Given the description of an element on the screen output the (x, y) to click on. 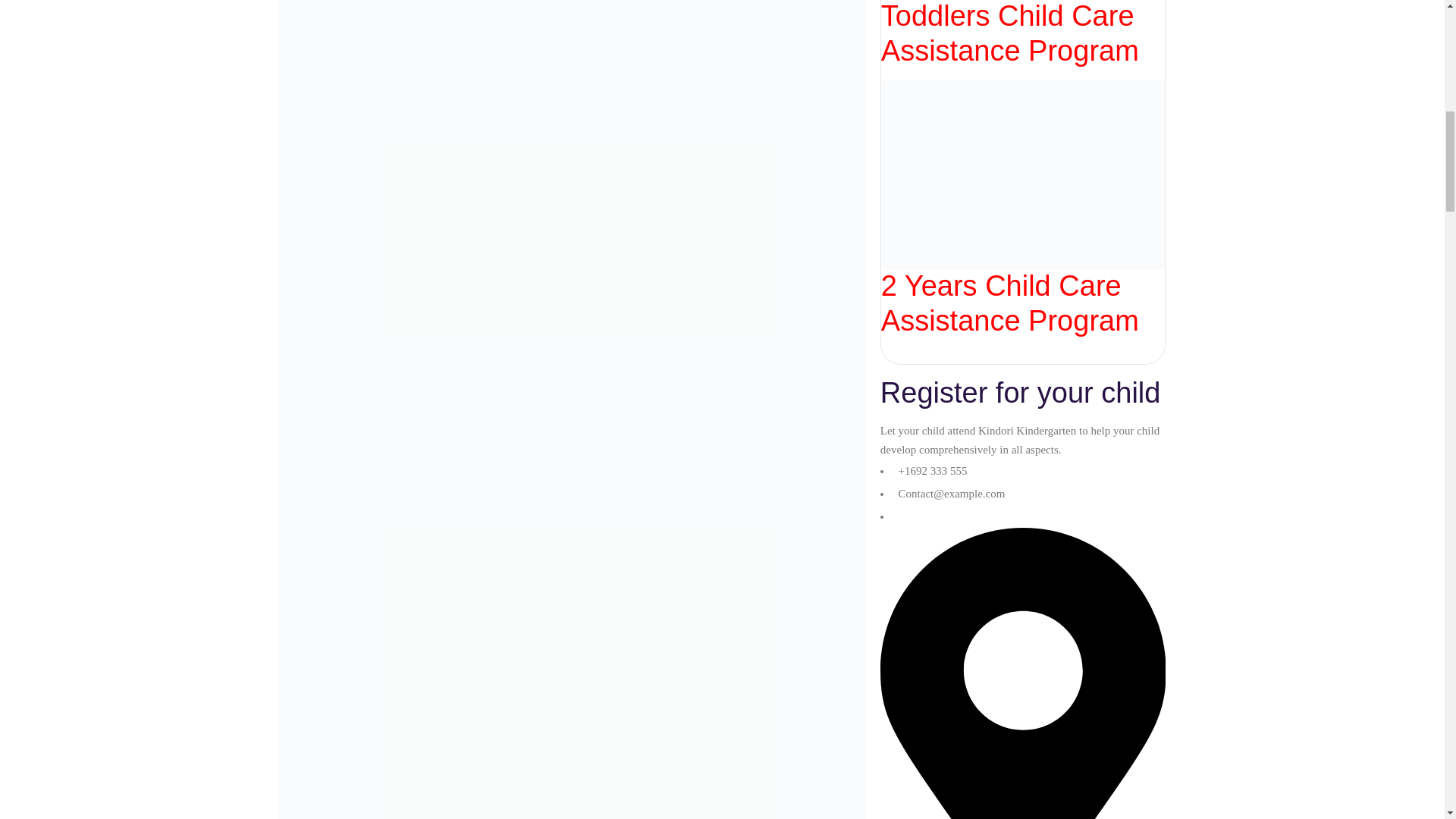
classes-3 (571, 61)
